Given the description of an element on the screen output the (x, y) to click on. 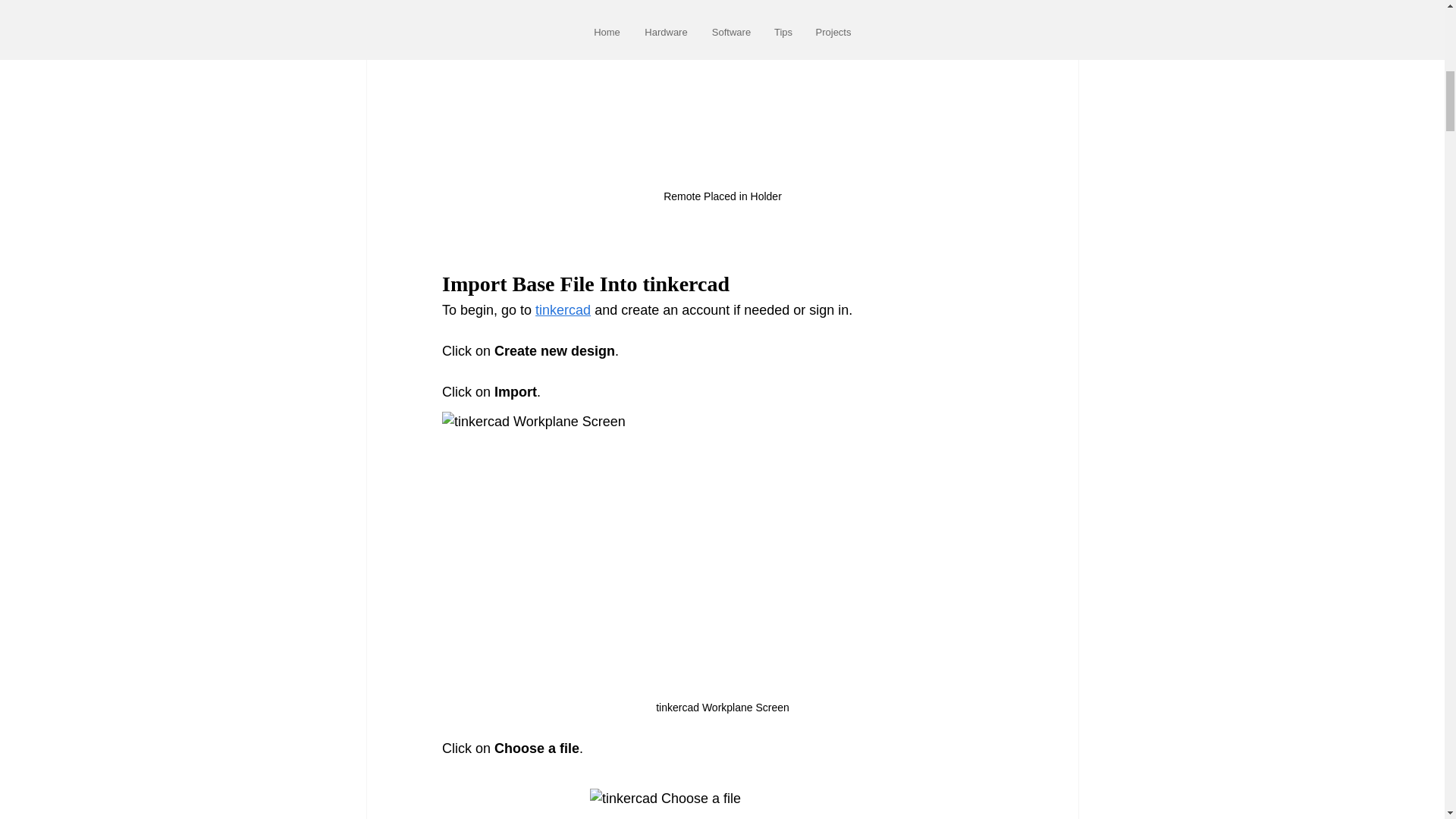
tinkercad (563, 309)
